Given the description of an element on the screen output the (x, y) to click on. 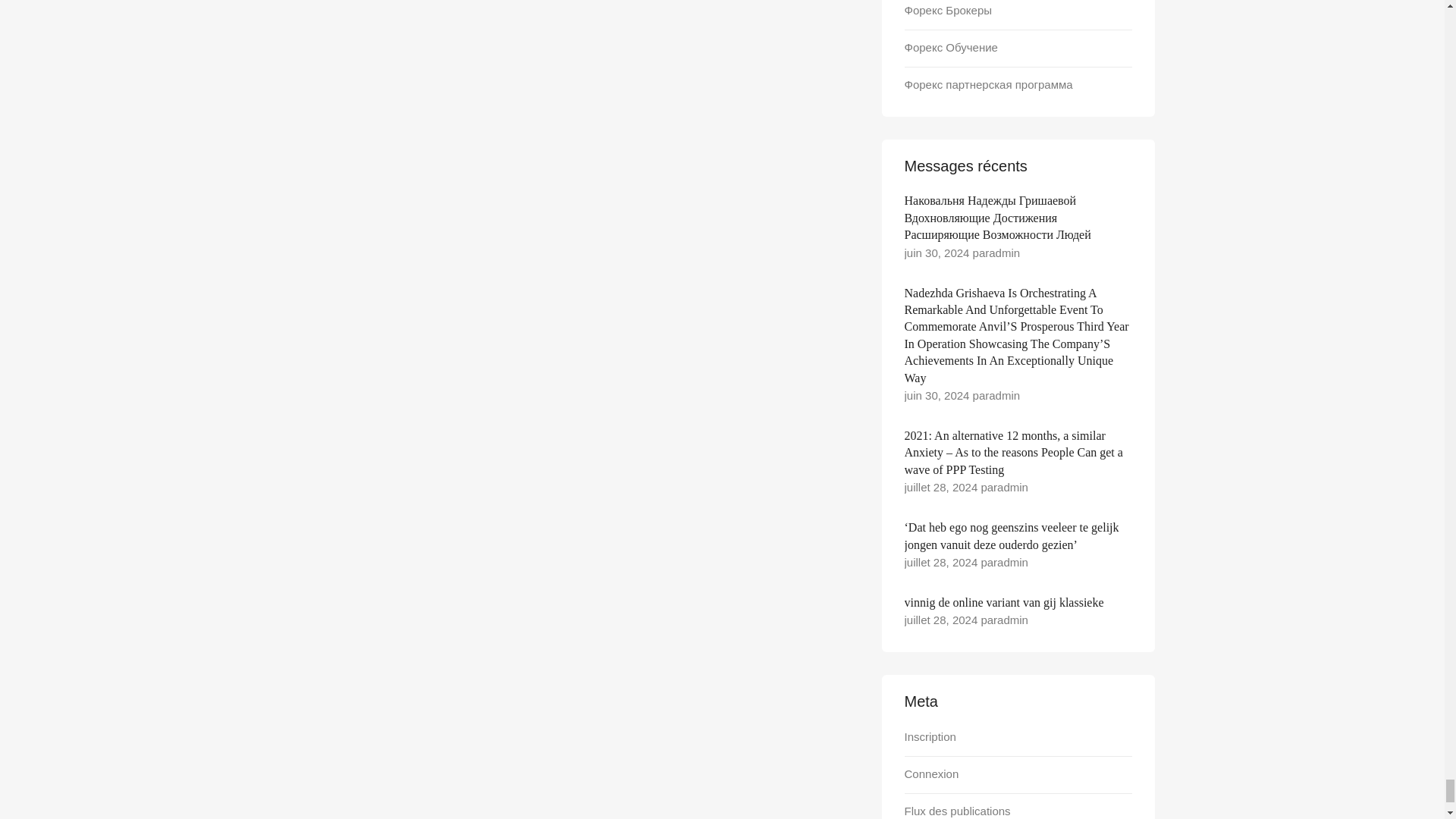
Articles par admin (1012, 562)
Articles par admin (1004, 395)
Articles par admin (1004, 252)
Articles par admin (1012, 619)
Articles par admin (1012, 486)
